Given the description of an element on the screen output the (x, y) to click on. 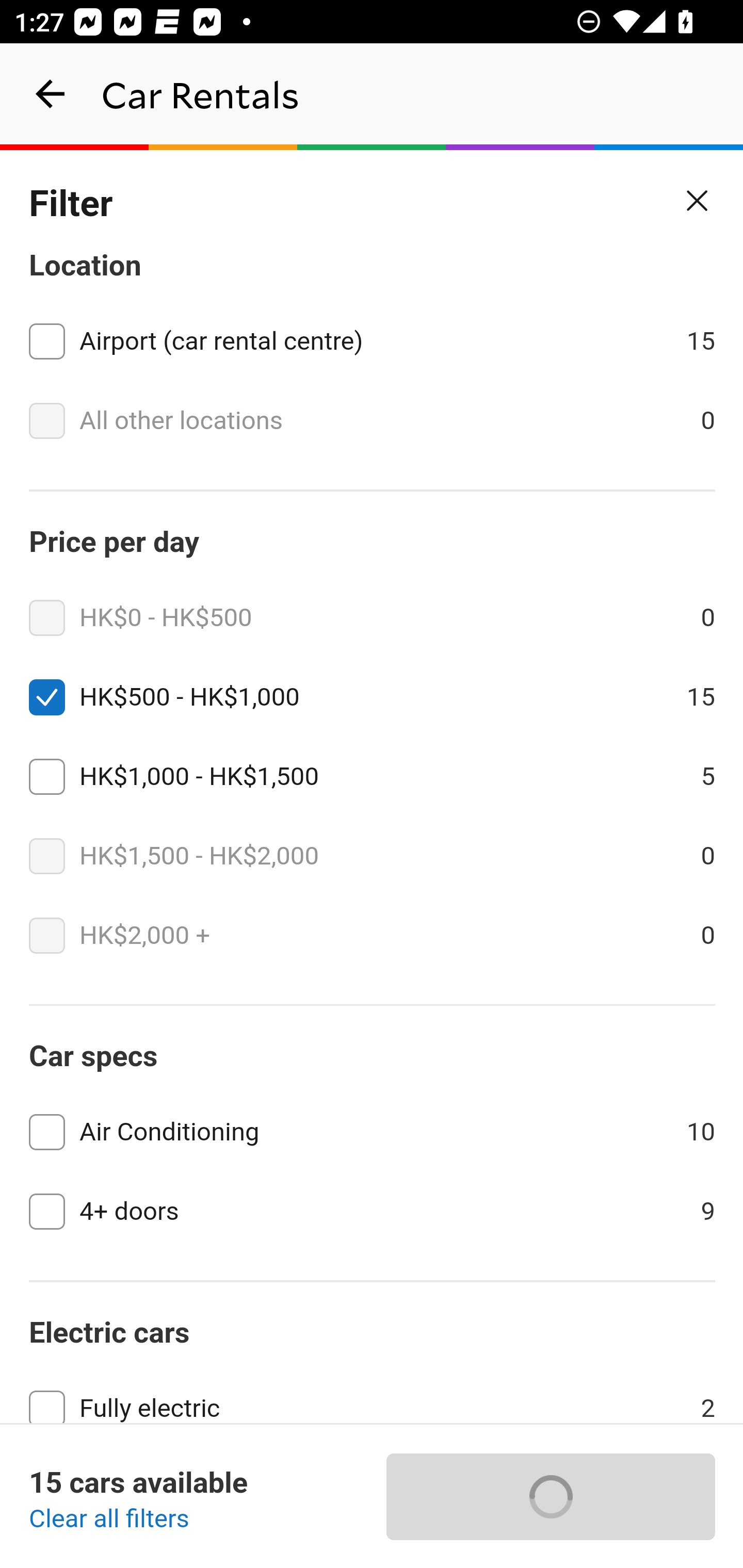
navigation_button (50, 93)
Close (697, 201)
Clear all filters (108, 1519)
